Given the description of an element on the screen output the (x, y) to click on. 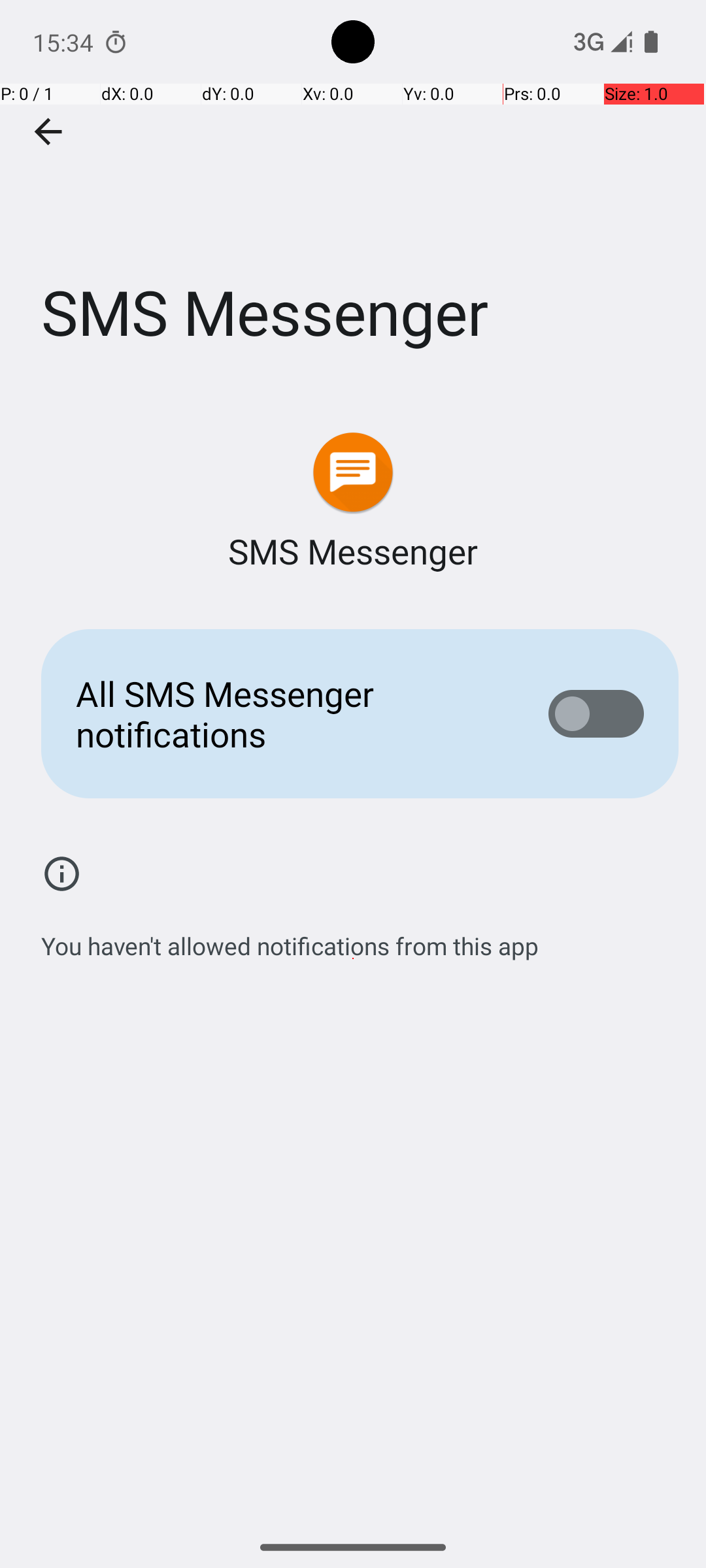
All SMS Messenger notifications Element type: android.widget.TextView (291, 713)
You haven't allowed notifications from this app Element type: android.widget.TextView (290, 938)
